Given the description of an element on the screen output the (x, y) to click on. 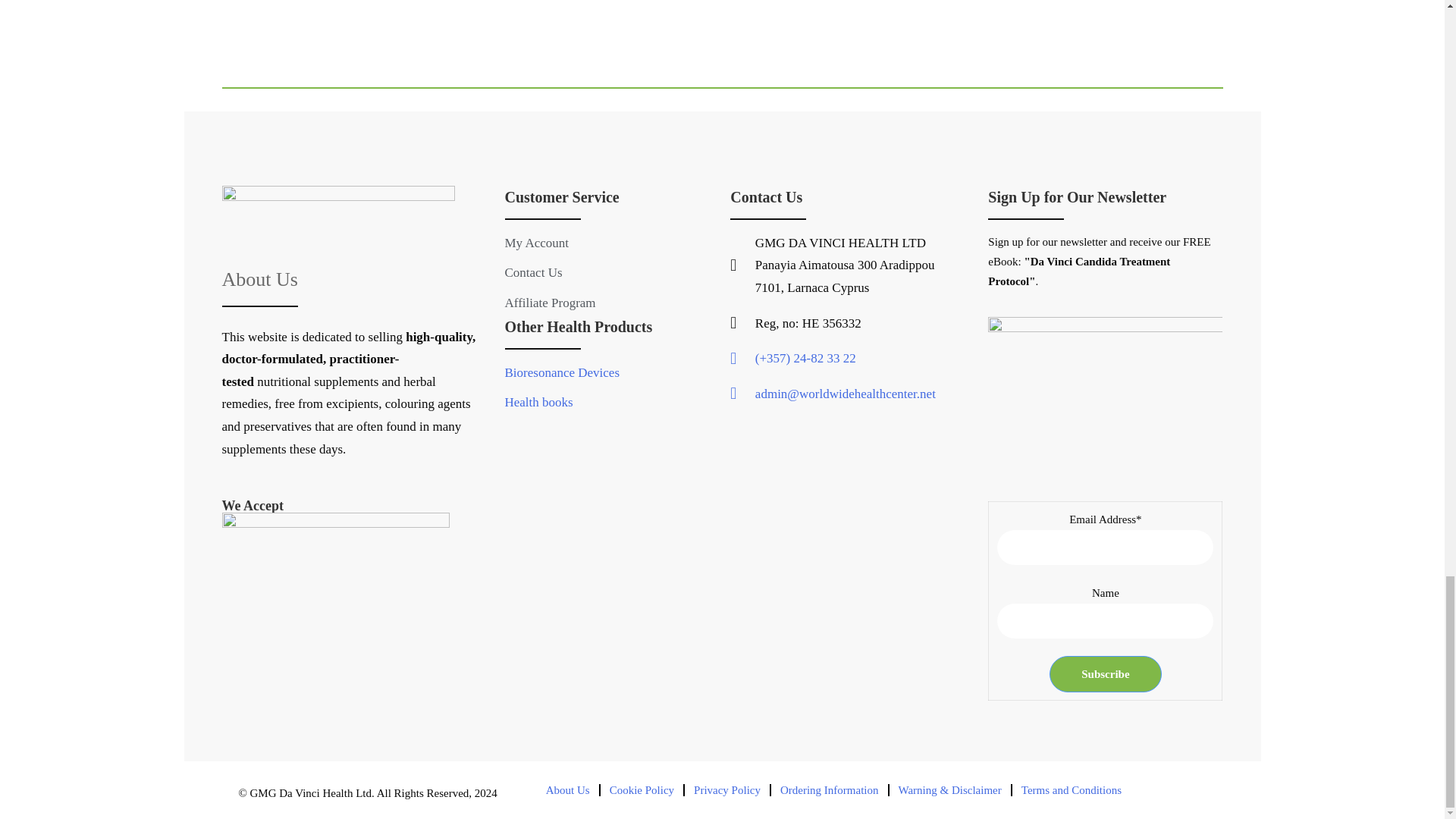
Subscribe (1104, 674)
